Given the description of an element on the screen output the (x, y) to click on. 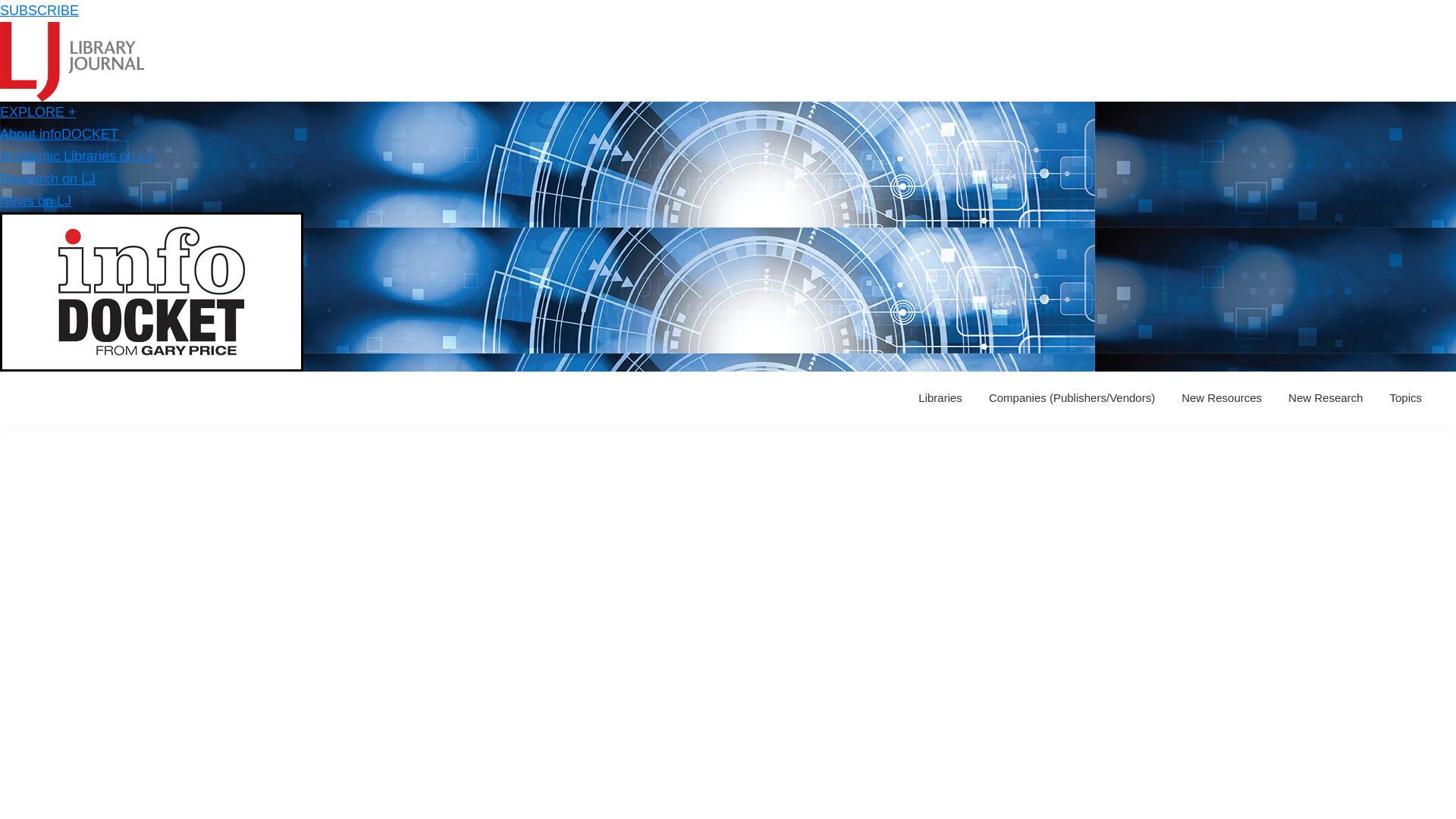
About infoDOCKET (58, 133)
Academic Libraries on LJ (76, 155)
SUBSCRIBE (39, 10)
New Resources (1221, 397)
New Research (1325, 397)
Libraries (940, 397)
News on LJ (35, 200)
Research on LJ (48, 178)
